Given the description of an element on the screen output the (x, y) to click on. 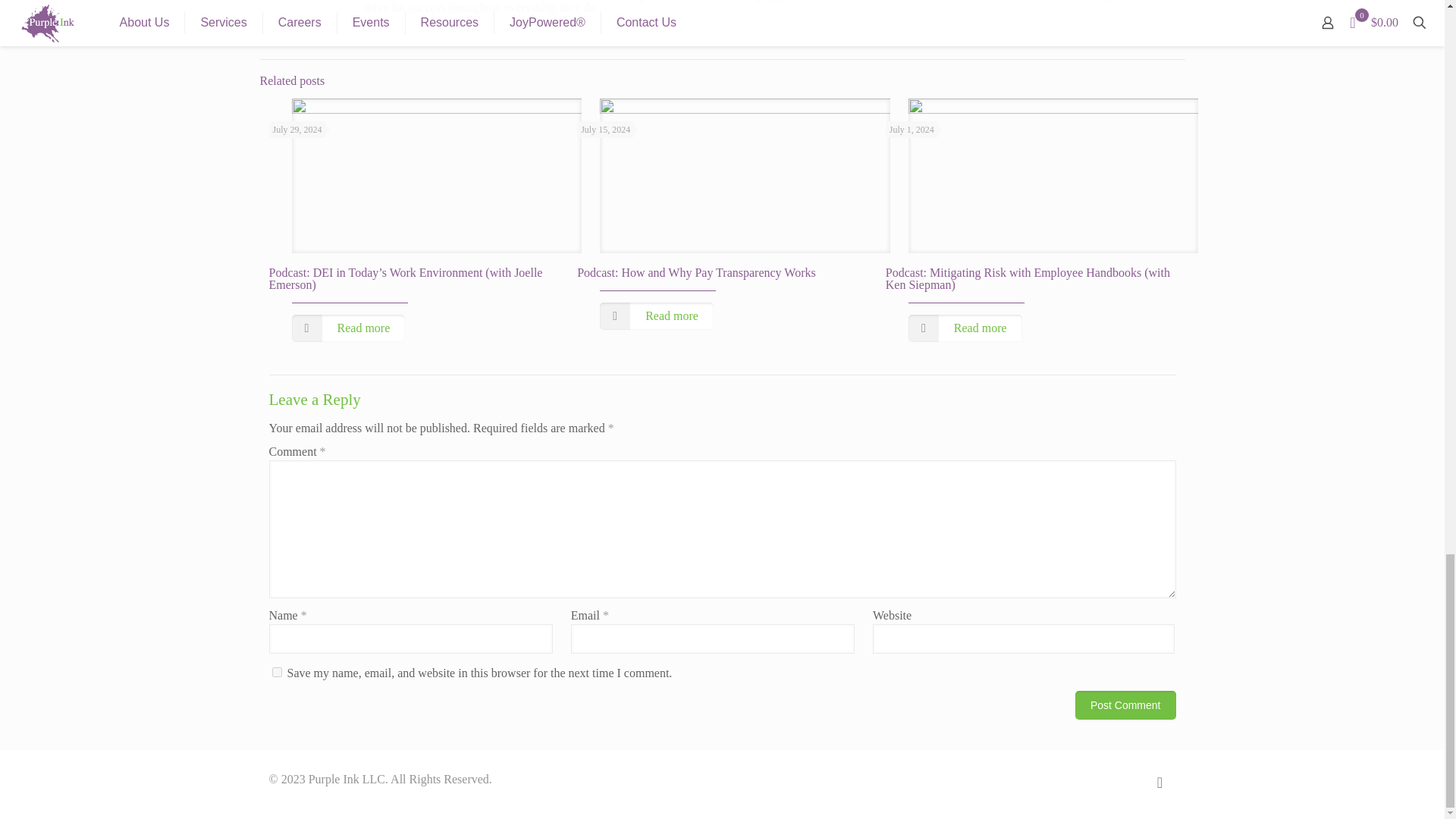
yes (275, 672)
Facebook (1091, 779)
Post Comment (1125, 705)
LinkedIn (1123, 779)
